Given the description of an element on the screen output the (x, y) to click on. 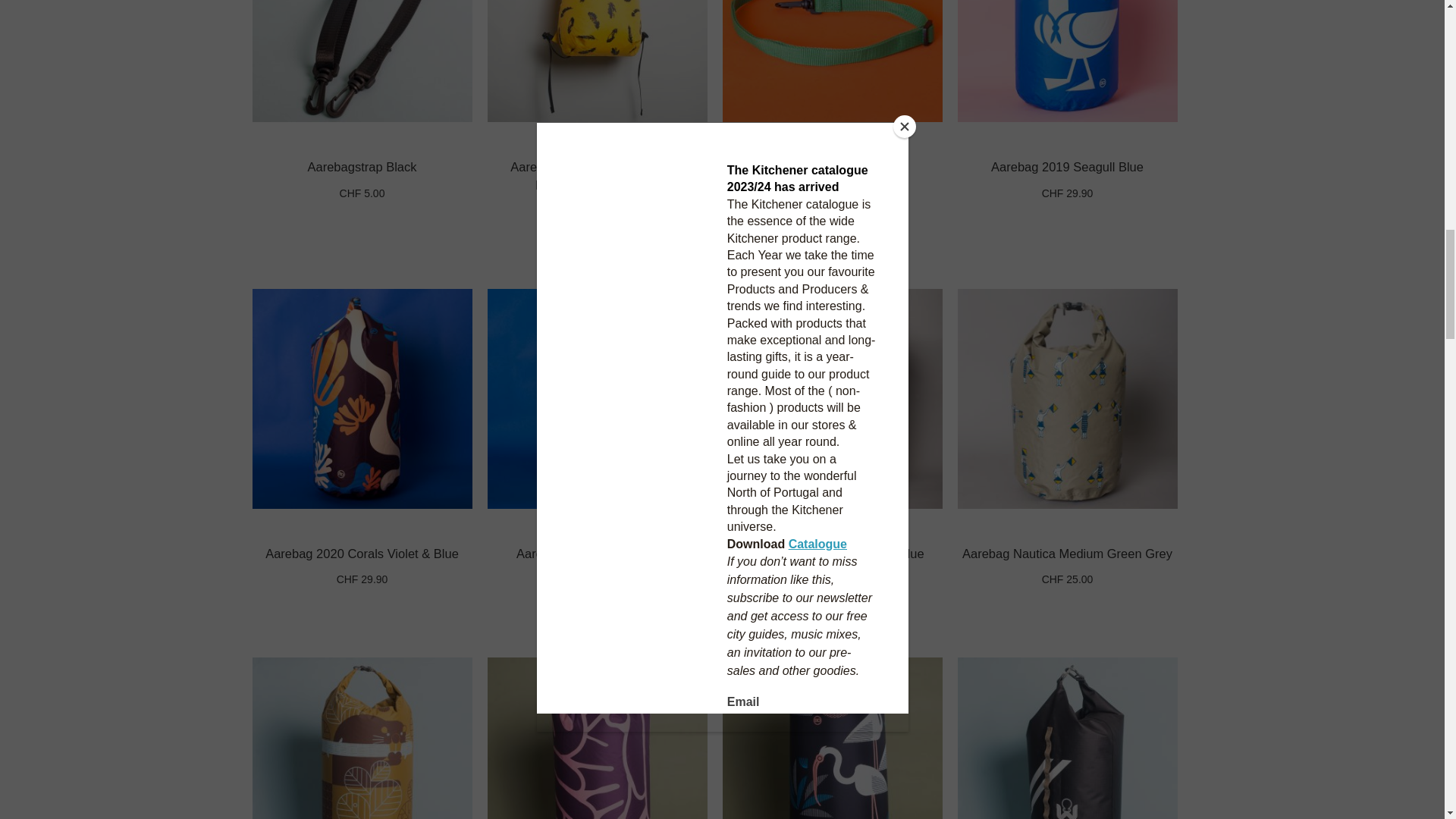
Aarebag 2019 Seagull Blue (1066, 166)
Aarebag Nautica Medium Green Grey (1067, 553)
Aarebag 2024 Feathers Splash Rucksack Corn Yellow (596, 175)
Aarebag 2020 Medley Yellow (597, 553)
Aarebag 2020 Nautica Light Blue (831, 553)
Aarebagstrap Green (832, 166)
Aarebagstrap Black (361, 166)
